Given the description of an element on the screen output the (x, y) to click on. 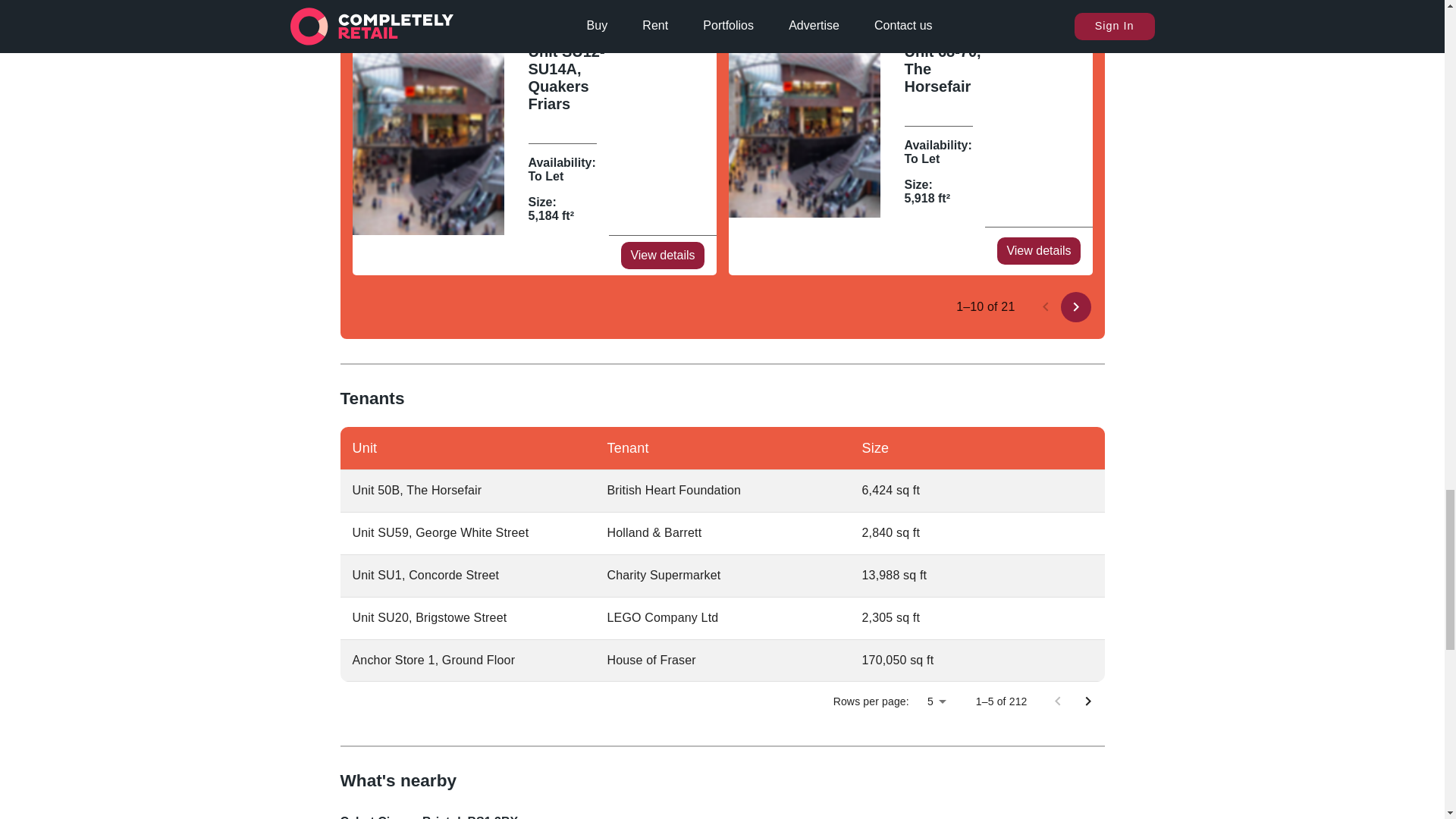
Go to previous page (1044, 306)
Go to next page (1086, 701)
Go to next page (1074, 306)
Go to previous page (1056, 701)
